Given the description of an element on the screen output the (x, y) to click on. 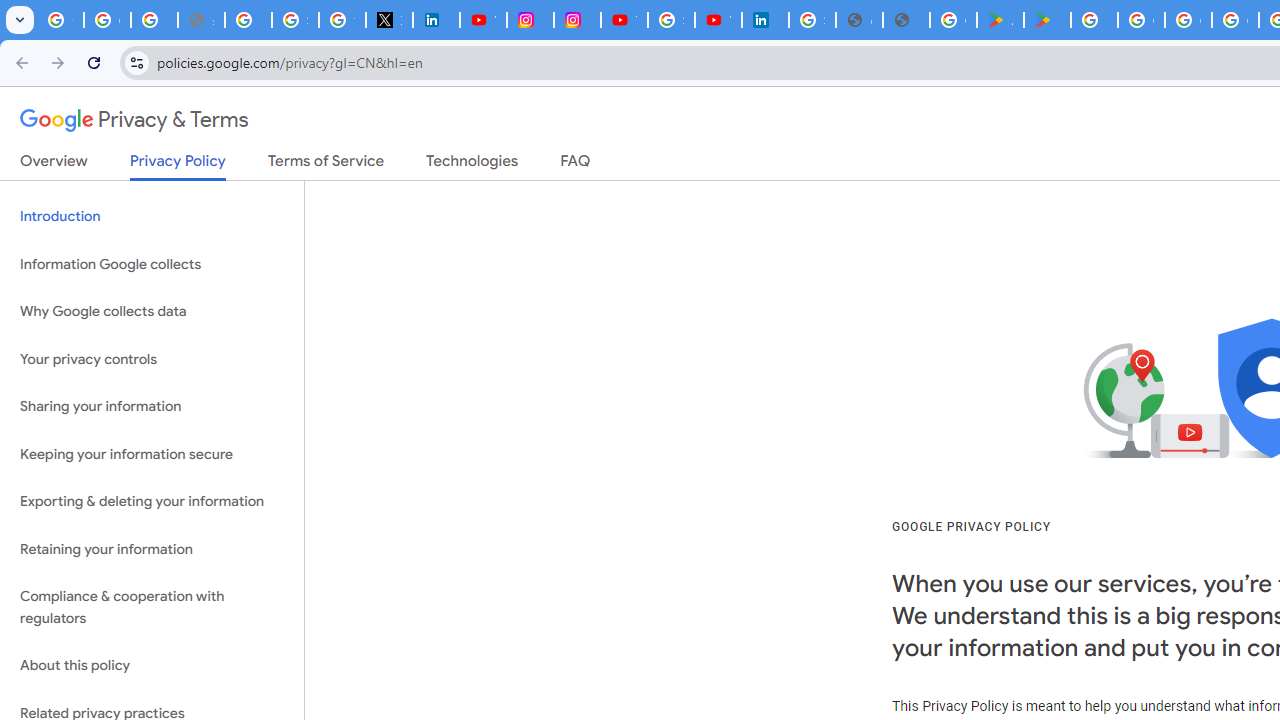
Privacy & Terms (134, 120)
PAW Patrol Rescue World - Apps on Google Play (1047, 20)
Your privacy controls (152, 358)
Introduction (152, 216)
Compliance & cooperation with regulators (152, 607)
Retaining your information (152, 548)
Android Apps on Google Play (999, 20)
LinkedIn Privacy Policy (436, 20)
Information Google collects (152, 263)
